Given the description of an element on the screen output the (x, y) to click on. 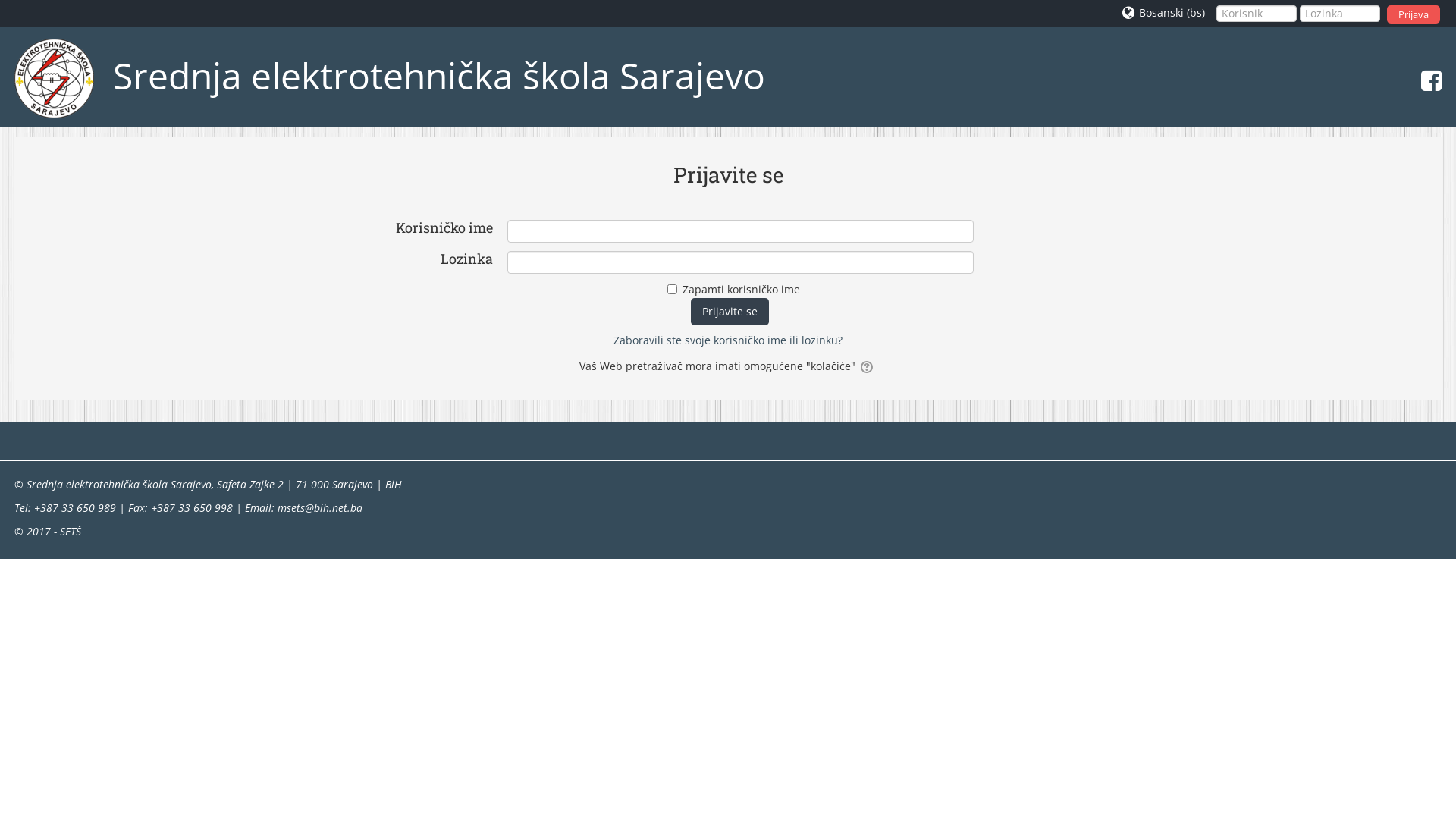
Bosanski (bs) Element type: text (1163, 12)
Prijava Element type: text (1413, 14)
Prijavite se Element type: text (729, 311)
Facebook Element type: hover (1427, 79)
